Given the description of an element on the screen output the (x, y) to click on. 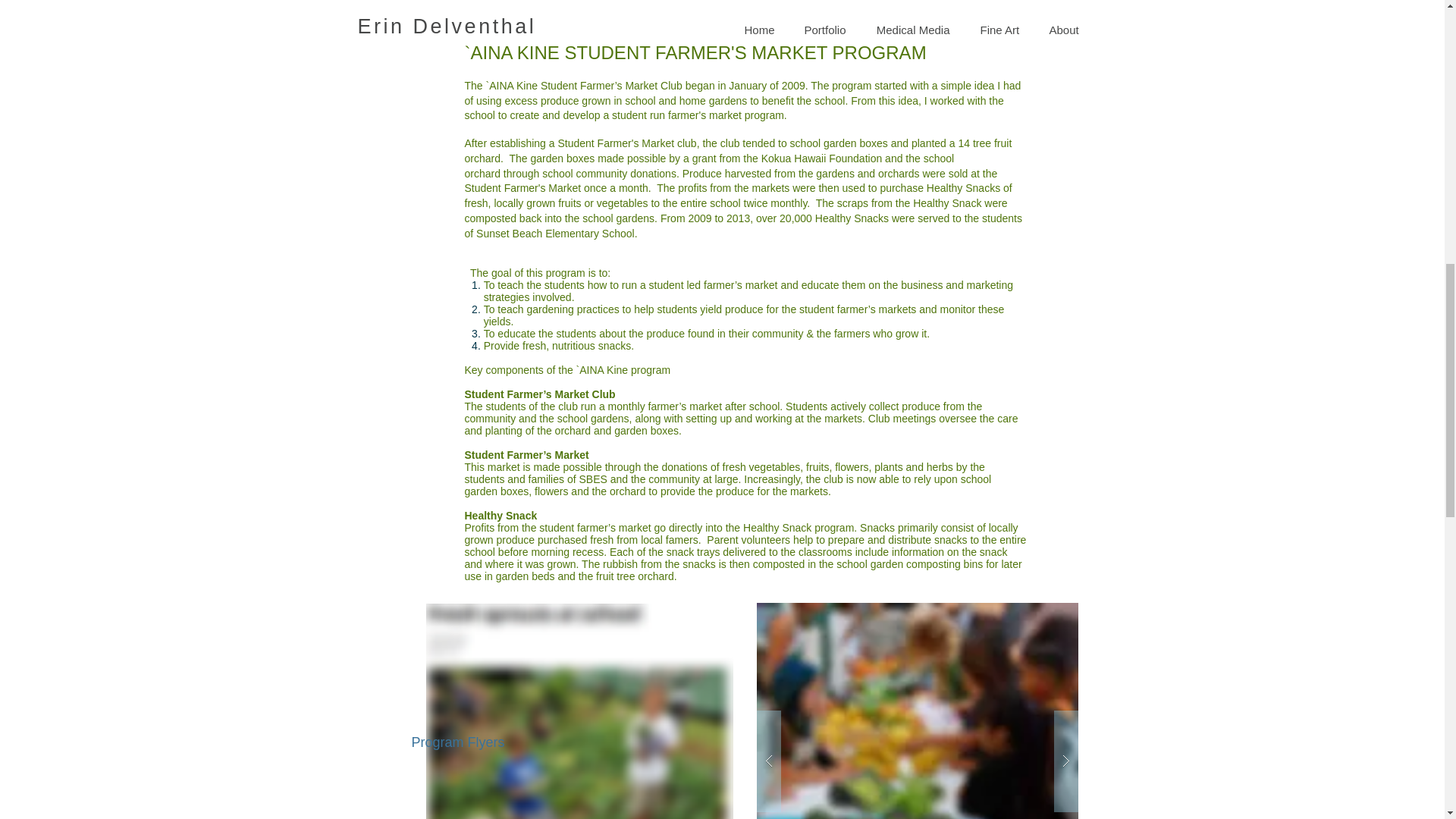
Screen Shot 2016-05-17 at 2.41.11 PM.png (579, 711)
